Given the description of an element on the screen output the (x, y) to click on. 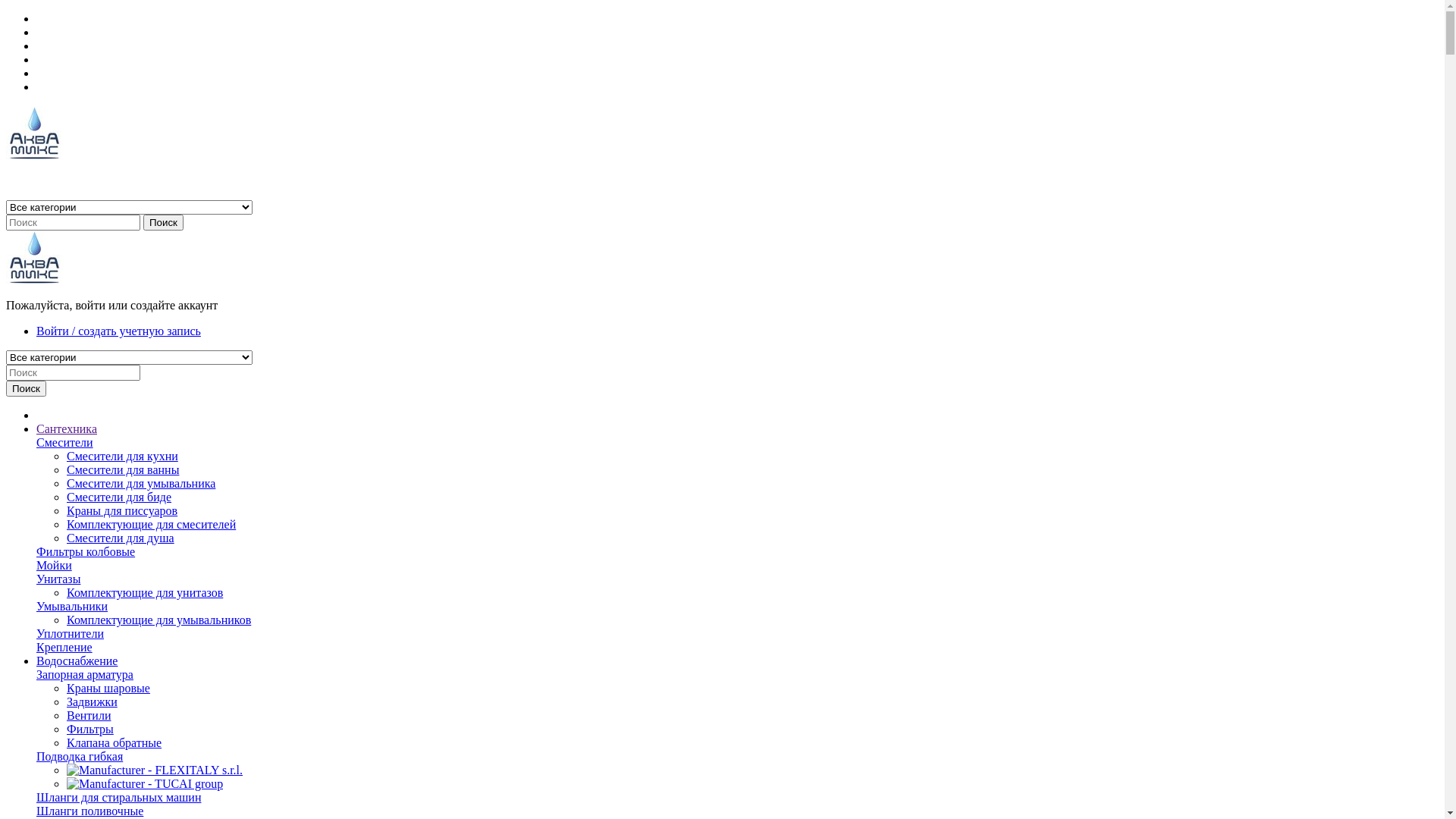
Manufacturer - TUCAI group Element type: hover (144, 783)
Manufacturer - FLEXITALY s.r.l. Element type: hover (154, 769)
